Given the description of an element on the screen output the (x, y) to click on. 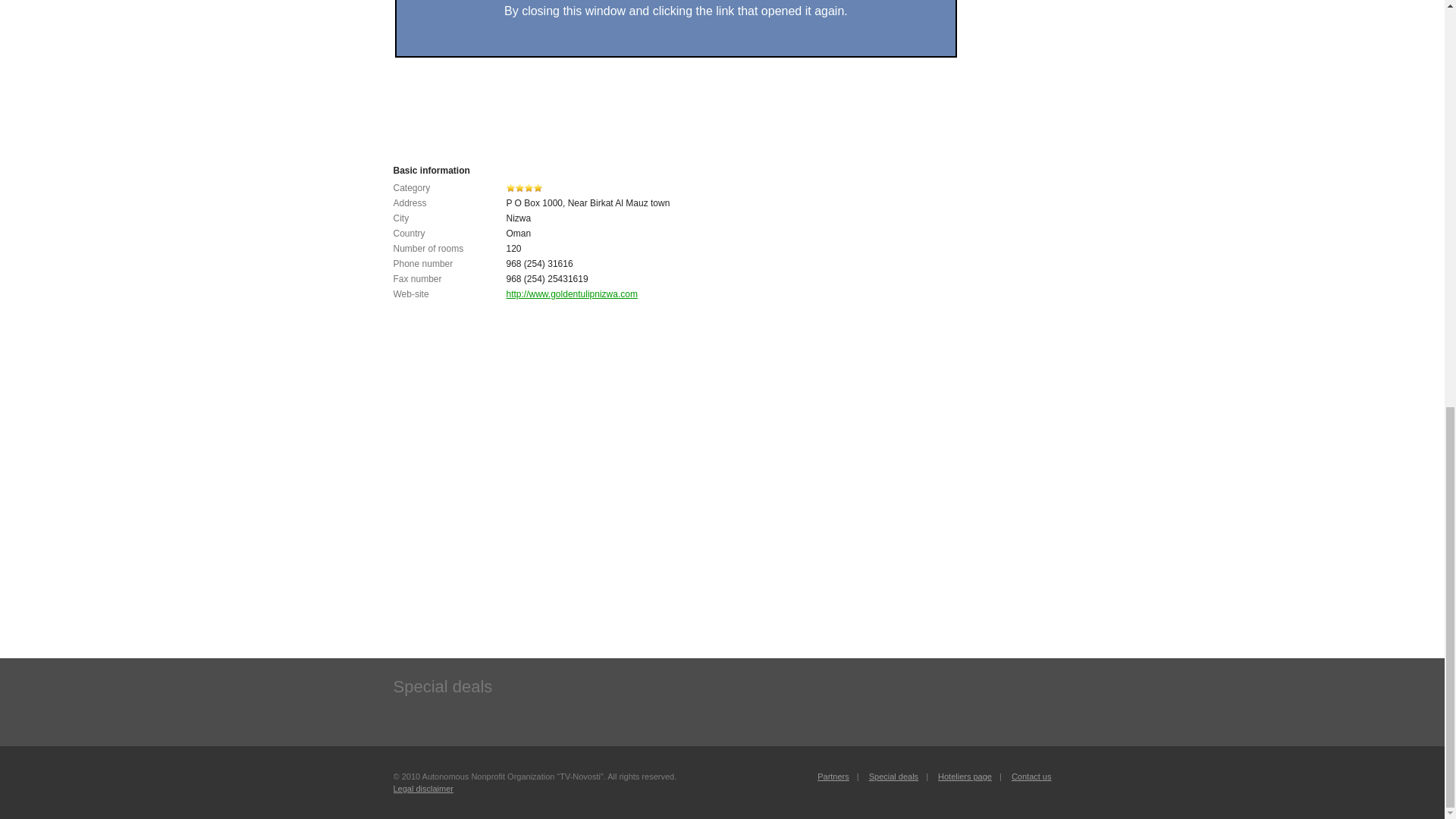
Contact us (1031, 776)
Hoteliers page (964, 776)
Legal disclaimer (422, 788)
Partners (832, 776)
Special deals (893, 776)
